Given the description of an element on the screen output the (x, y) to click on. 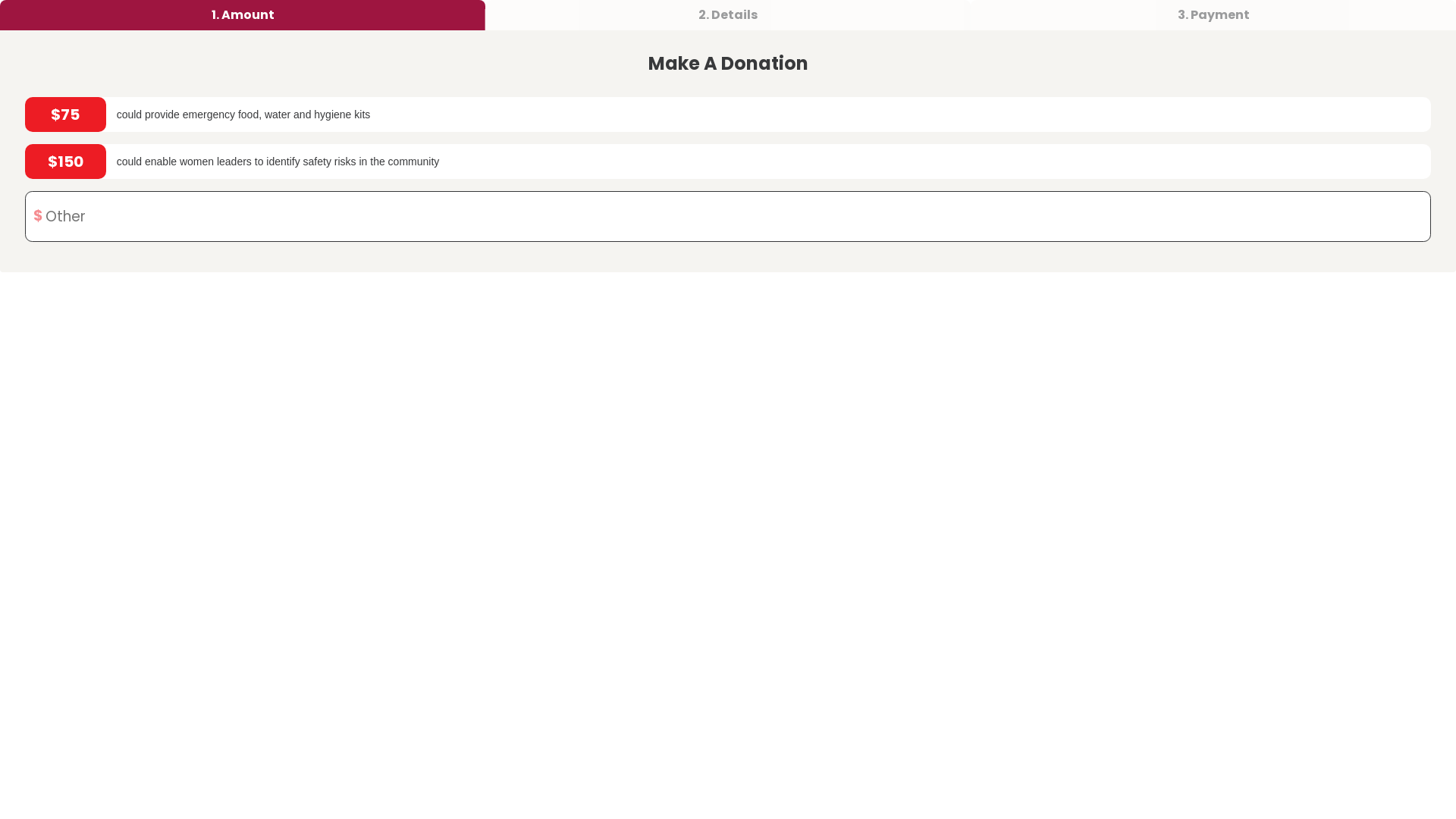
$75
could provide emergency food, water and hygiene kits Element type: text (727, 114)
